Given the description of an element on the screen output the (x, y) to click on. 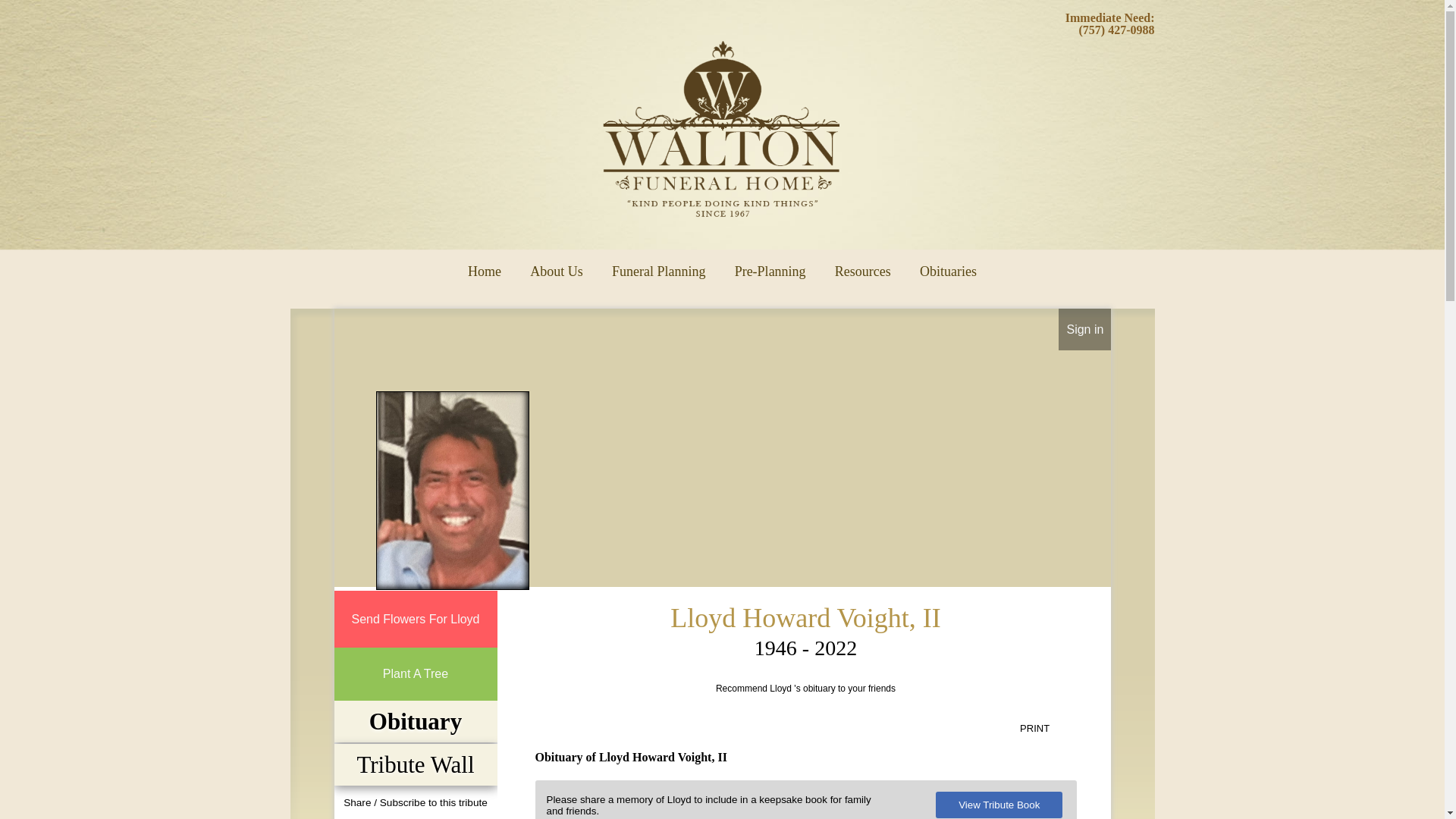
Home (484, 266)
Tribute Wall (414, 764)
Pre-Planning (769, 266)
Plant A Tree (414, 673)
Plant A Tree (414, 673)
Obituary (414, 721)
Send Flowers For Lloyd (414, 618)
Funeral Planning (658, 266)
About Us (556, 266)
